Given the description of an element on the screen output the (x, y) to click on. 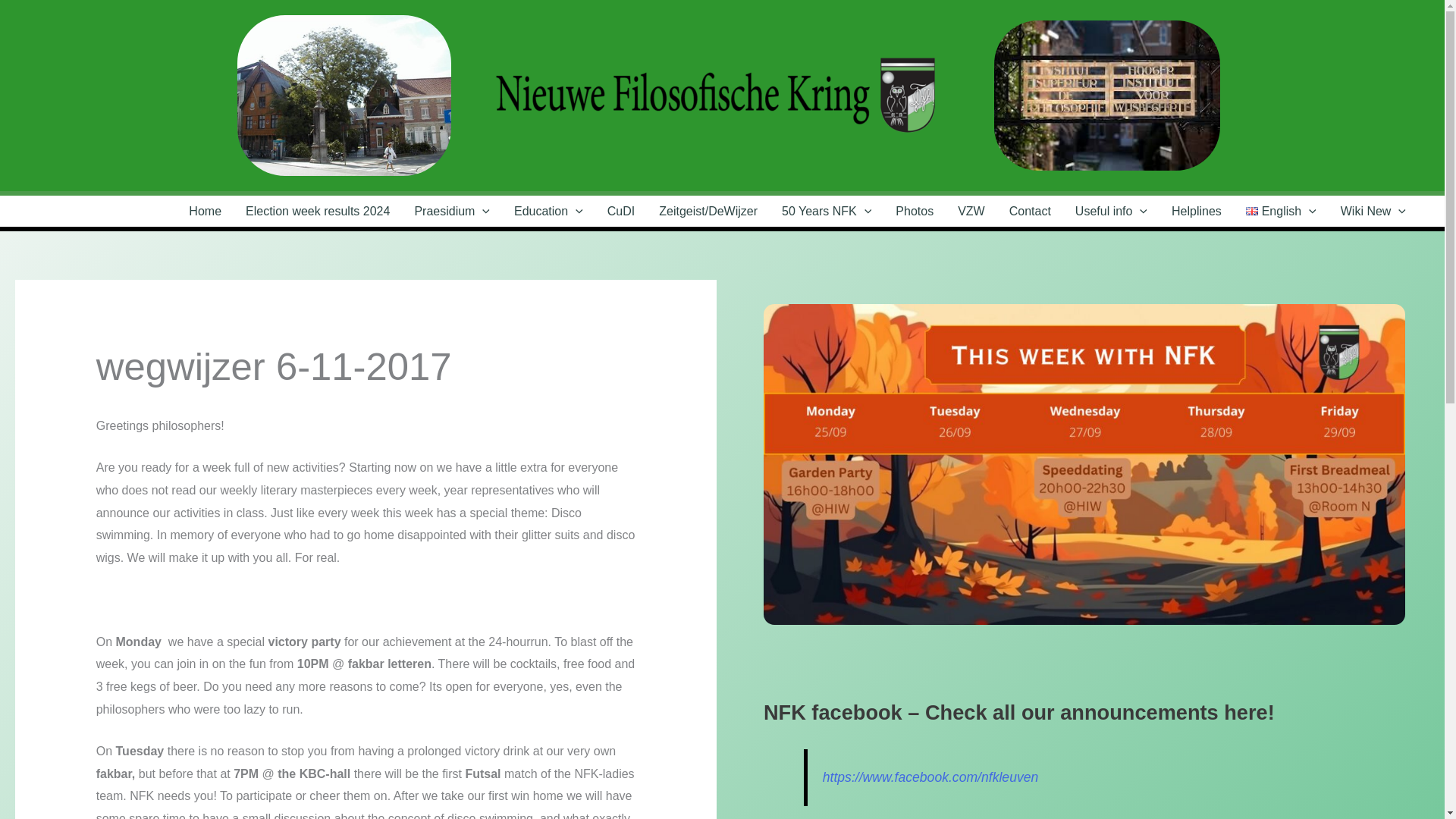
50 Years NFK (826, 210)
Praesidium (451, 210)
NFK homepage (204, 210)
Education (548, 210)
Course service (620, 210)
Information about student education representation  (548, 210)
CuDI (620, 210)
Lots of useful information about NFK and Leuven (1110, 210)
Election week results 2024 (316, 210)
Home (204, 210)
